Given the description of an element on the screen output the (x, y) to click on. 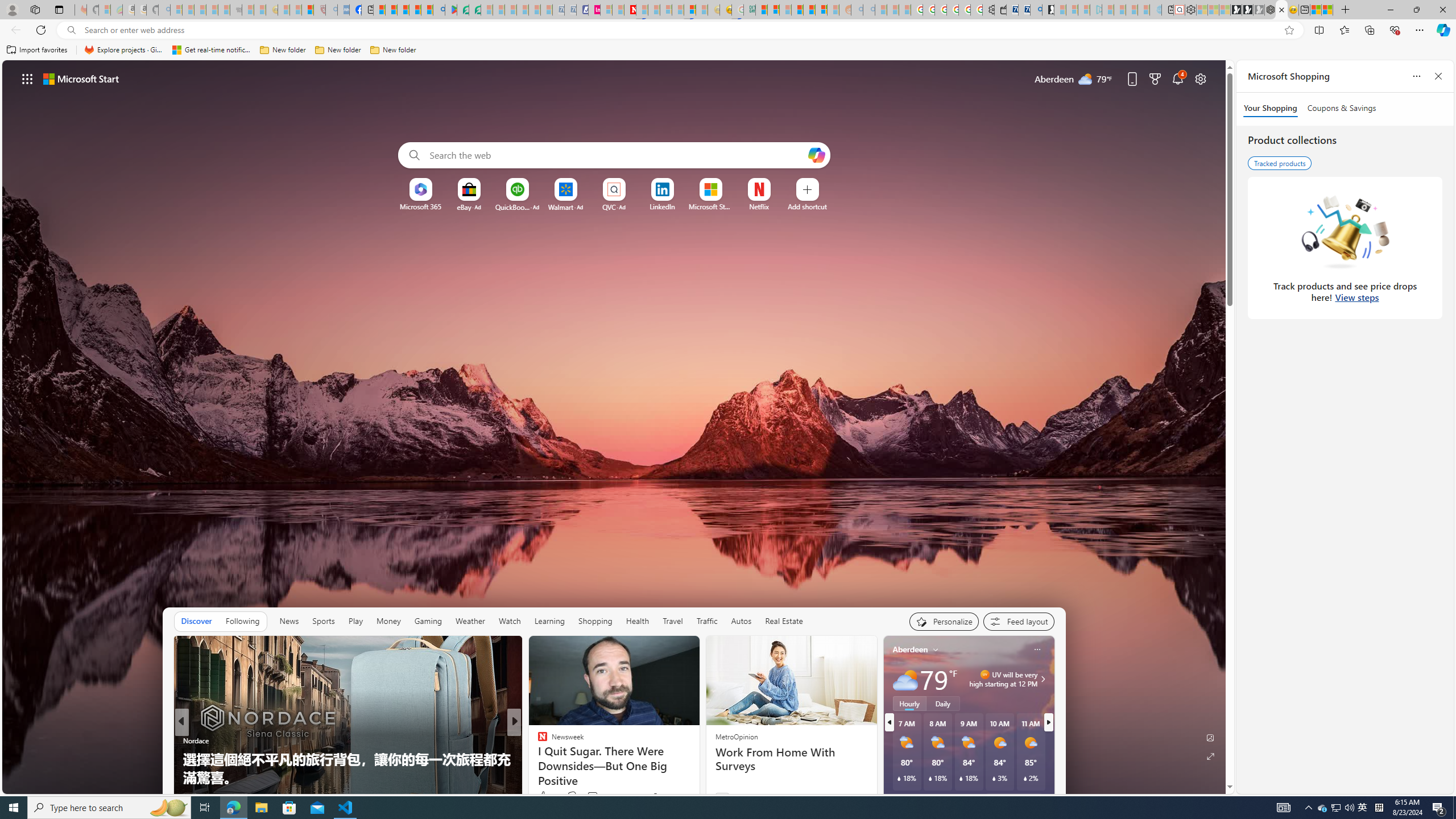
next (1047, 722)
Play (354, 621)
View comments 48 Comment (592, 797)
LinkedIn (662, 206)
View comments 307 Comment (595, 796)
